Given the description of an element on the screen output the (x, y) to click on. 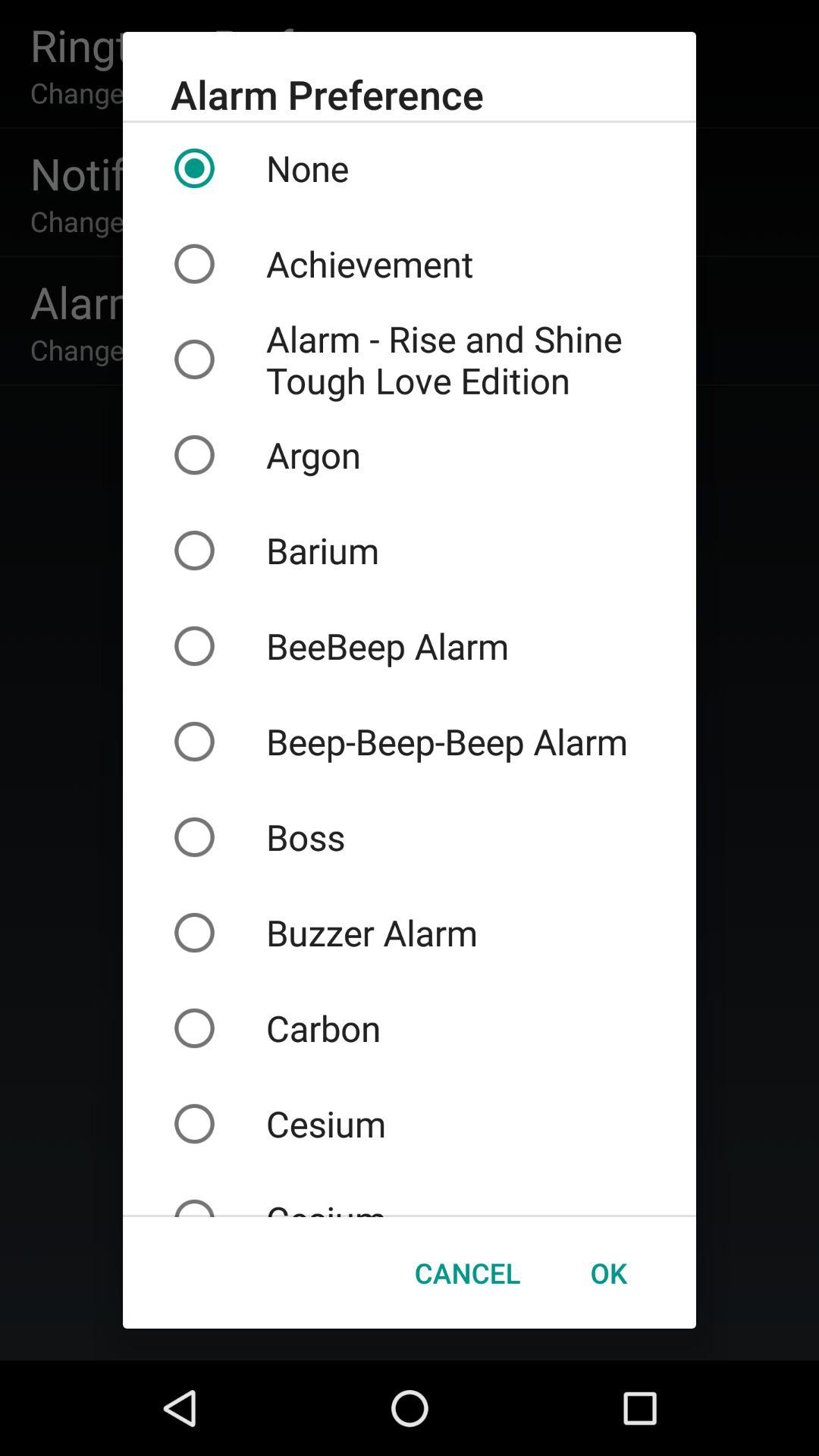
turn off icon below the cesium (467, 1272)
